Given the description of an element on the screen output the (x, y) to click on. 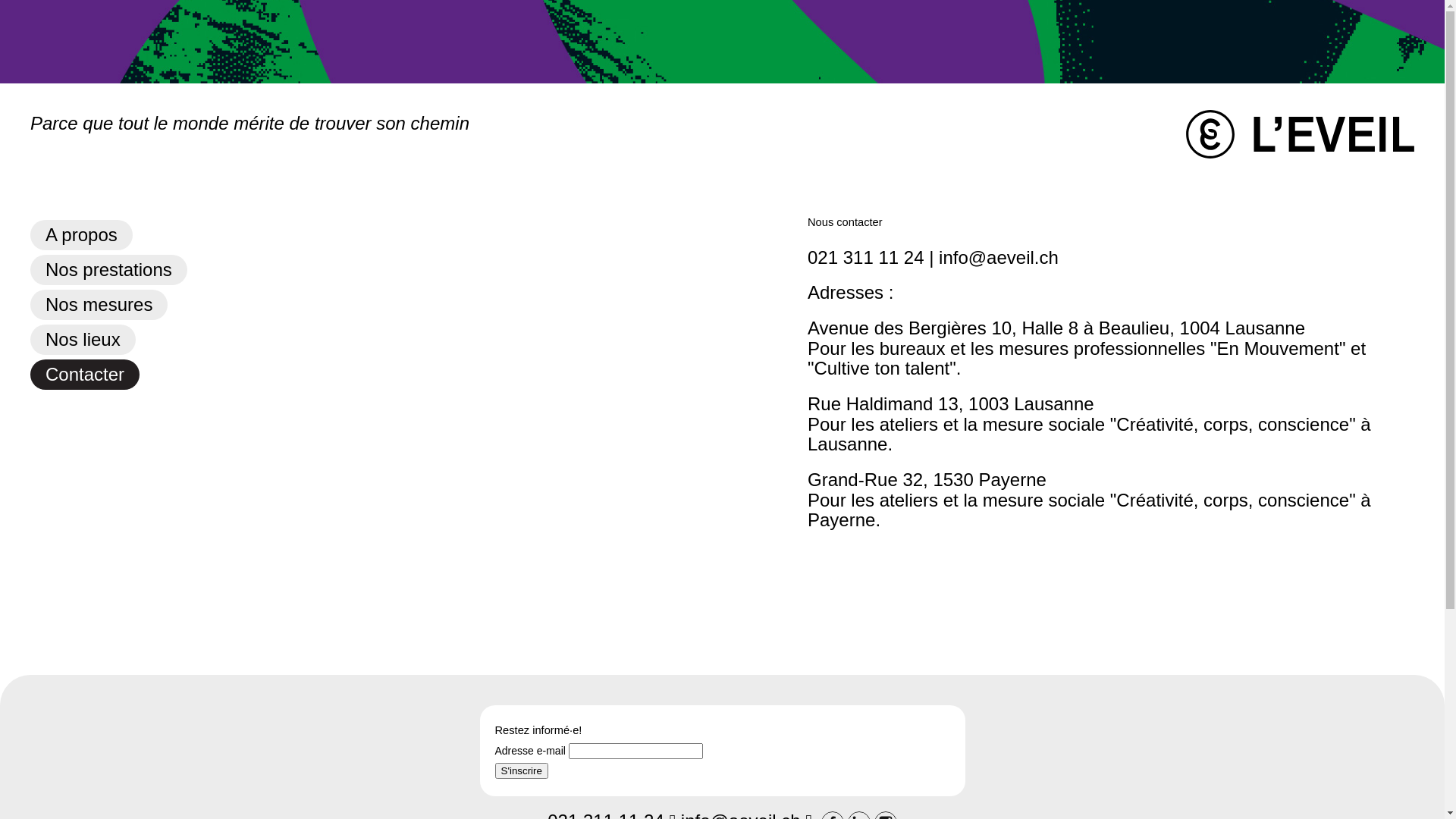
Contacter Element type: text (84, 374)
Nos lieux Element type: text (82, 339)
Nos prestations Element type: text (108, 269)
Nos mesures Element type: text (98, 304)
info@aeveil.ch Element type: text (998, 257)
A propos Element type: text (81, 234)
S'inscrire Element type: text (520, 770)
